Given the description of an element on the screen output the (x, y) to click on. 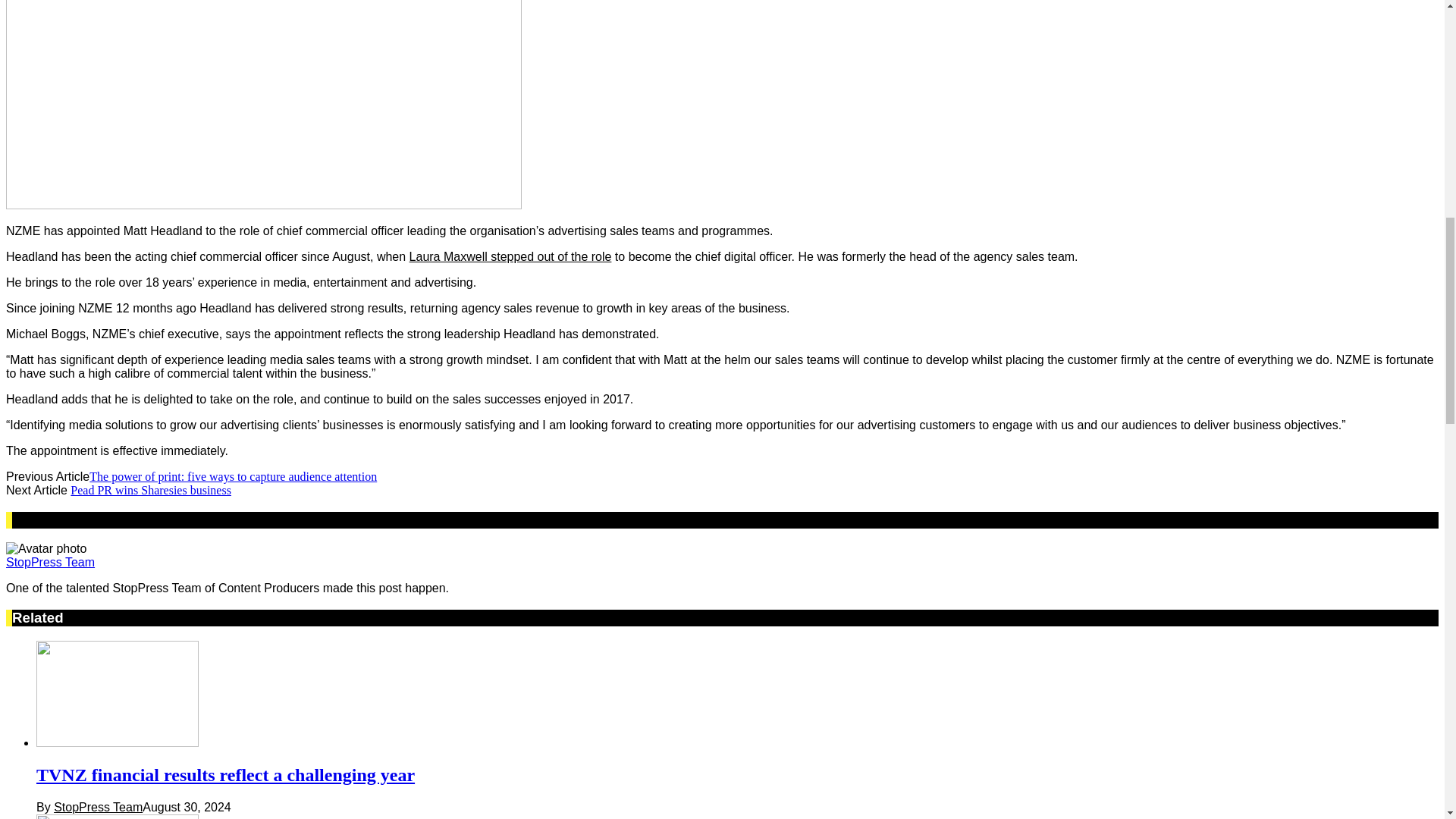
TVNZ financial results reflect a challenging year (117, 742)
NZME appoints Matt Headland to chief commercial officer (263, 104)
Posts by StopPress Team (49, 562)
NZME appoints Matt Headland to chief commercial officer (263, 205)
TVNZ financial results reflect a challenging year (225, 774)
TVNZ financial results reflect a challenging year (117, 693)
Posts by StopPress Team (97, 807)
